Given the description of an element on the screen output the (x, y) to click on. 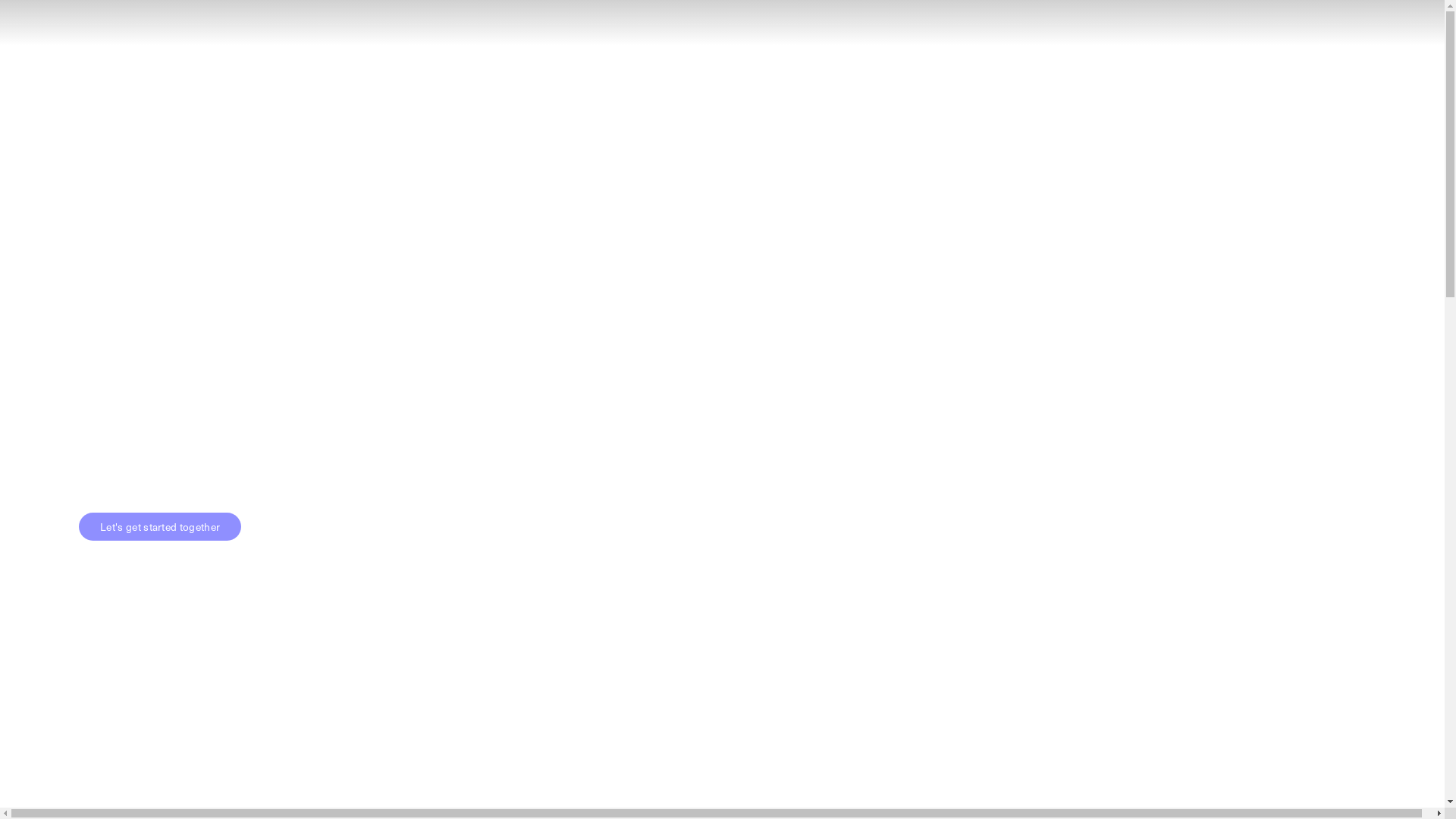
Let's get started together Element type: text (159, 526)
